Given the description of an element on the screen output the (x, y) to click on. 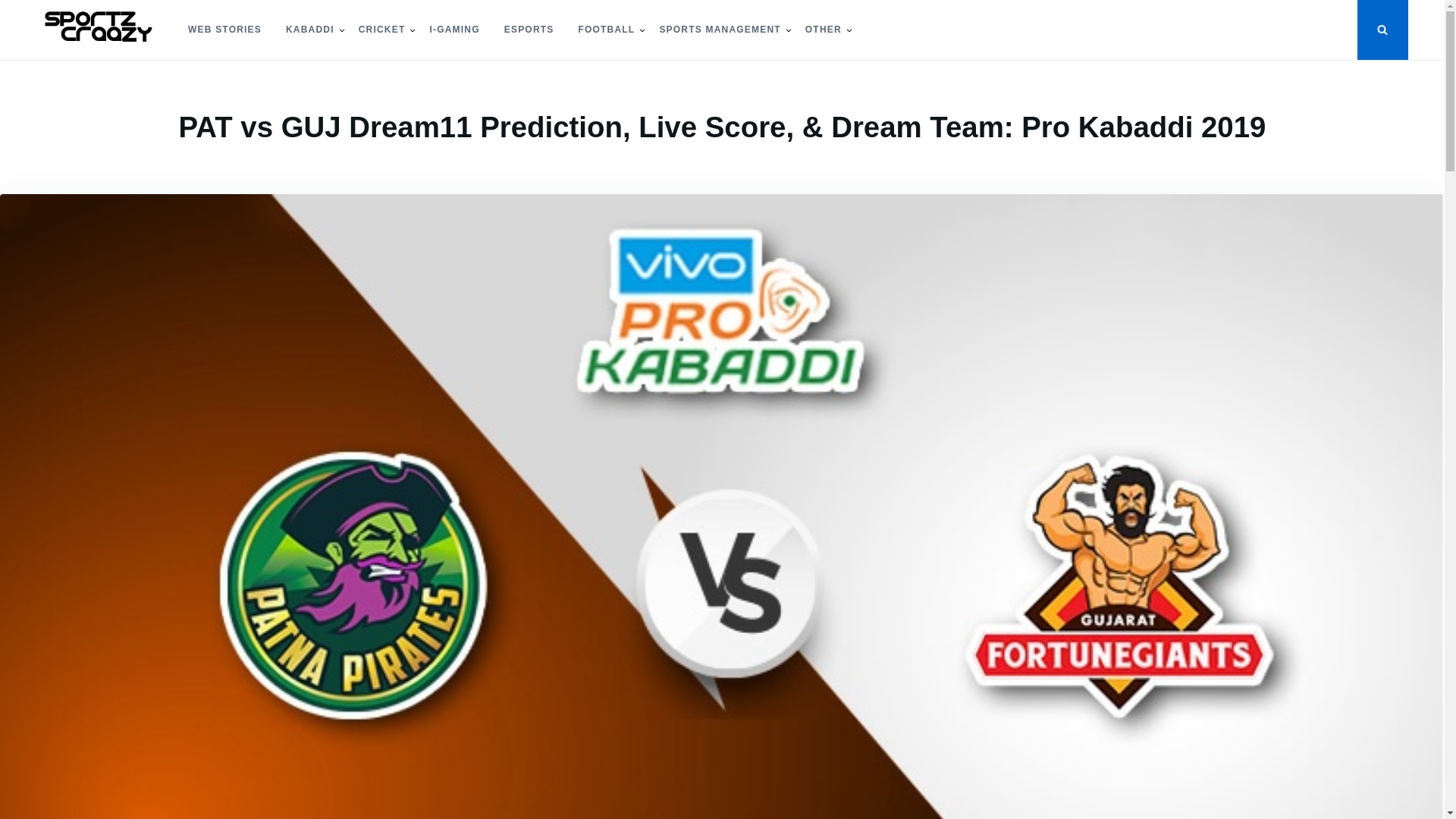
WEB STORIES (224, 29)
KABADDI (309, 29)
Sportzcraazy (92, 72)
